Given the description of an element on the screen output the (x, y) to click on. 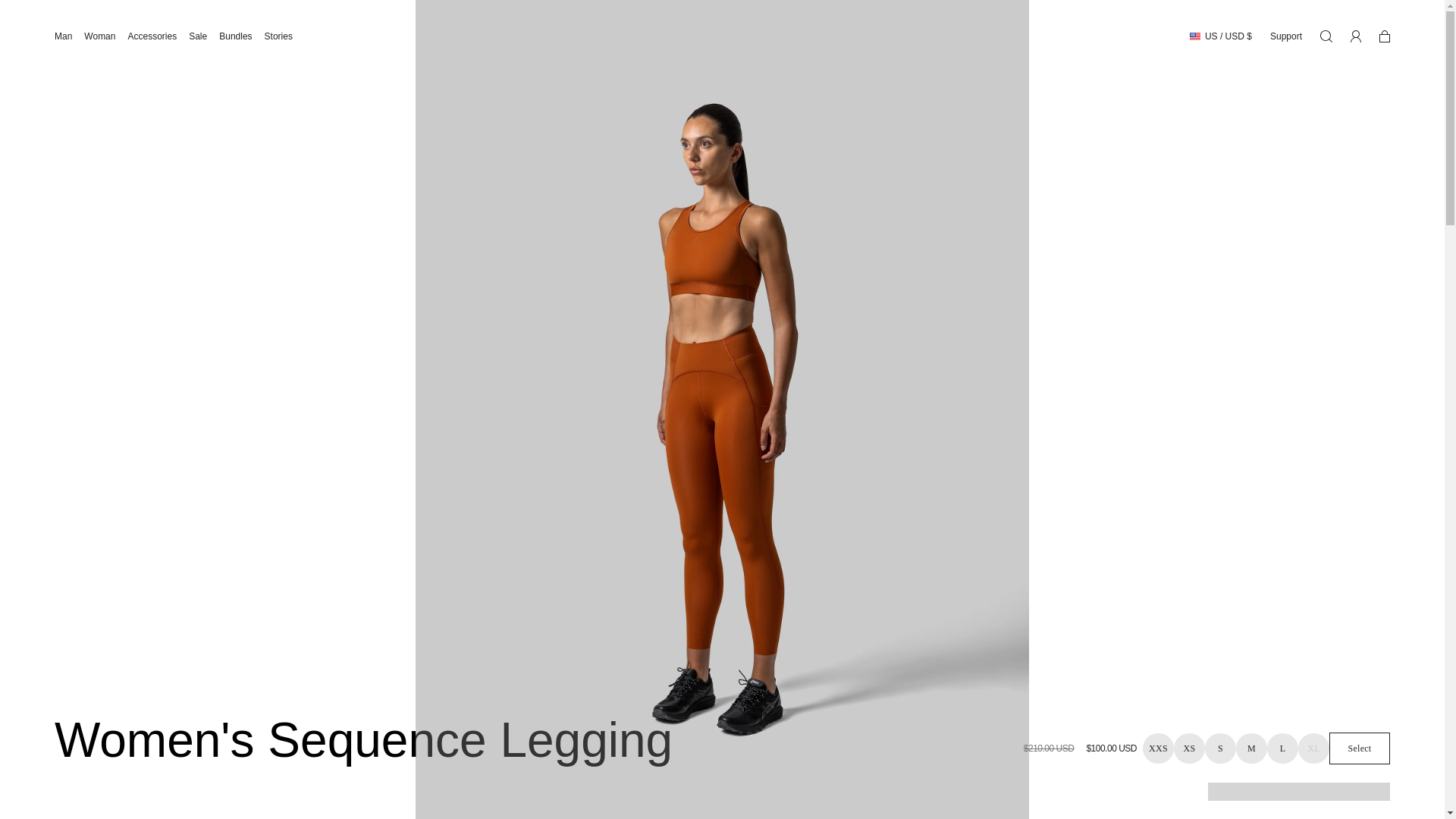
XL (1313, 748)
Accessories (158, 36)
Woman (106, 36)
Sale (204, 36)
L (1282, 748)
Bundles (241, 36)
Support (1276, 36)
Man (69, 36)
M (1251, 748)
S (1220, 748)
